Given the description of an element on the screen output the (x, y) to click on. 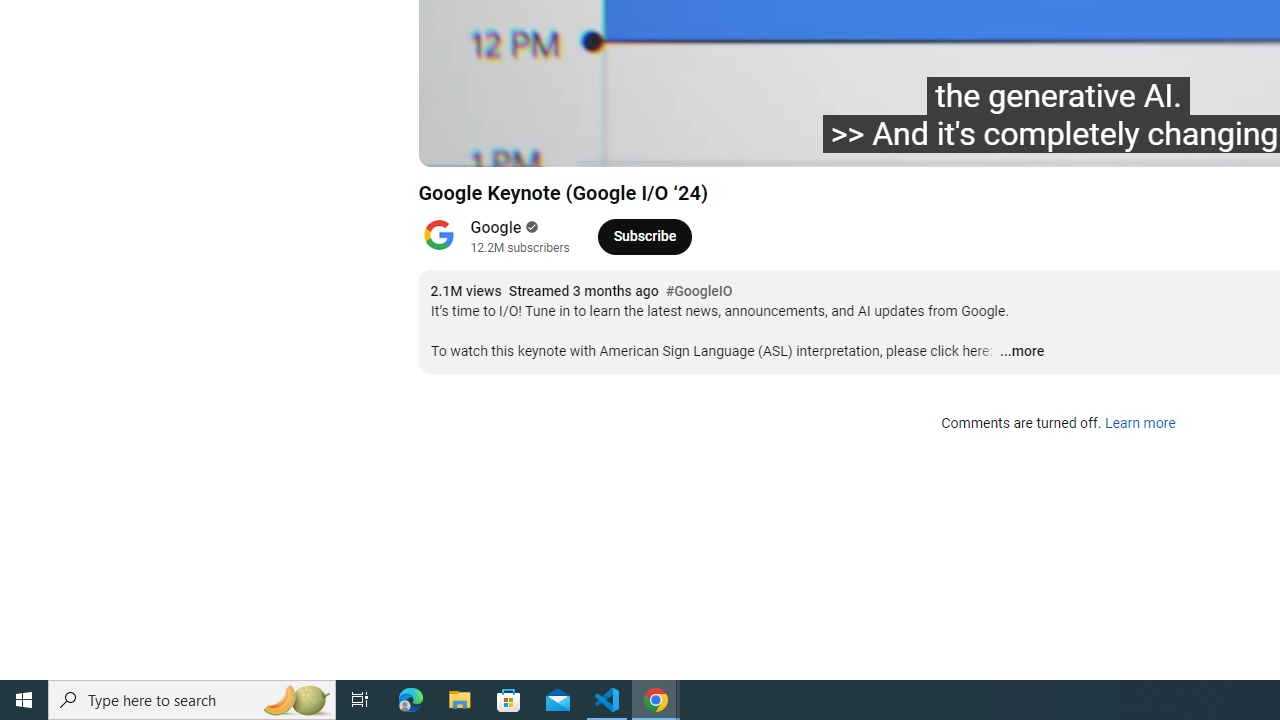
...more (1021, 352)
Opening Film (763, 142)
Next (SHIFT+n) (546, 142)
Learn more (1139, 423)
Play (k) (502, 142)
#GoogleIO (699, 291)
Subscribe to Google. (644, 236)
Previous (SHIFT+p) (456, 142)
Verified (530, 227)
Google (496, 227)
Mute (m) (594, 142)
